Given the description of an element on the screen output the (x, y) to click on. 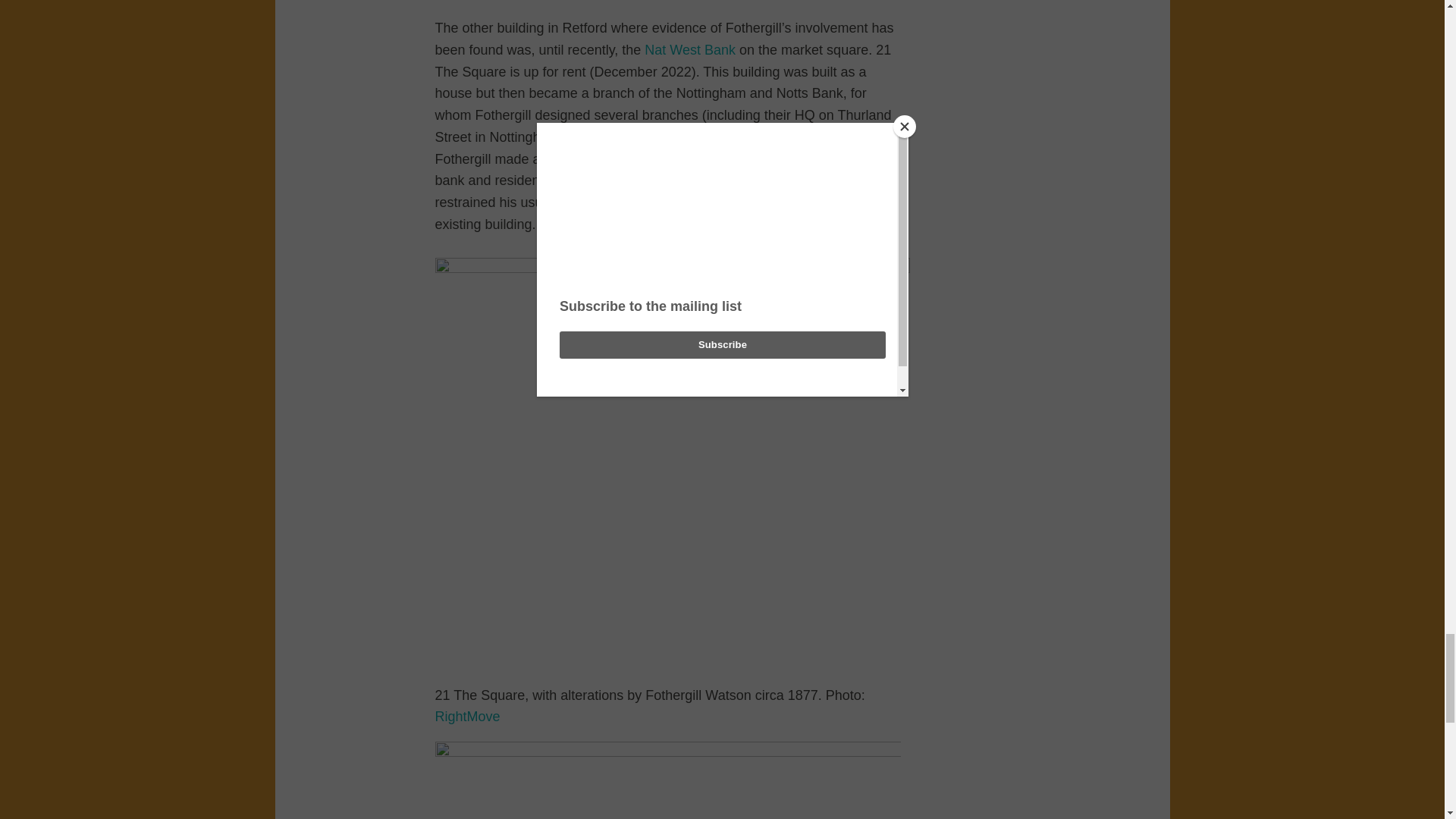
RightMove (467, 716)
Nat West Bank (690, 49)
